Given the description of an element on the screen output the (x, y) to click on. 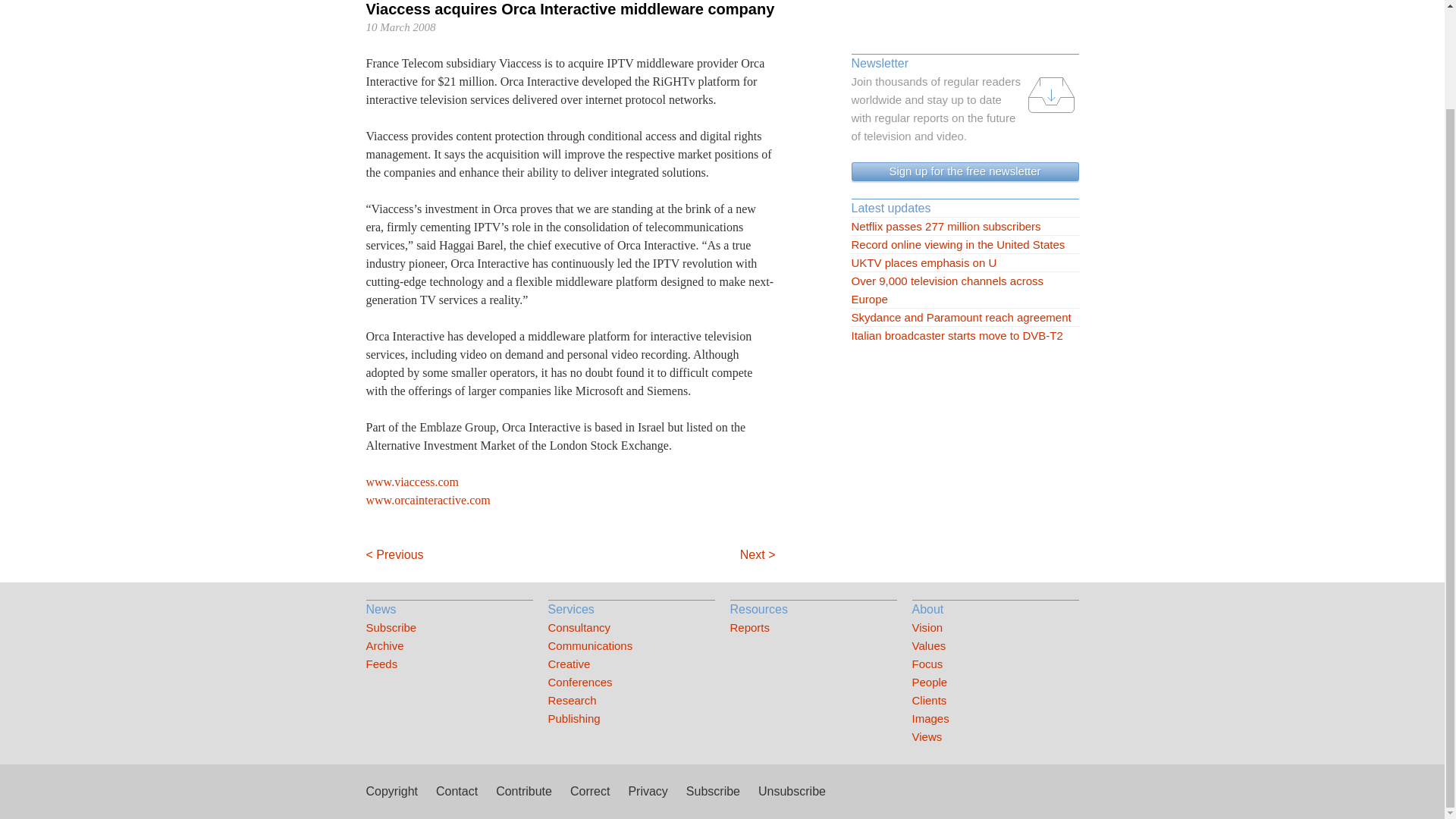
Record online viewing in the United States (964, 244)
Viaccess web site (411, 481)
UKTV places emphasis on U (964, 262)
Italian broadcaster starts move to DVB-T2 (964, 335)
Over 9,000 television channels across Europe (964, 289)
Archive (448, 646)
Orca Interactive web site (427, 499)
Feeds (448, 664)
Subscribe (448, 628)
Netflix passes 277 million subscribers (964, 226)
www.orcainteractive.com (427, 499)
www.viaccess.com (411, 481)
Sign up for the free newsletter (964, 171)
Get the newsletter (964, 171)
Skydance and Paramount reach agreement (964, 317)
